Given the description of an element on the screen output the (x, y) to click on. 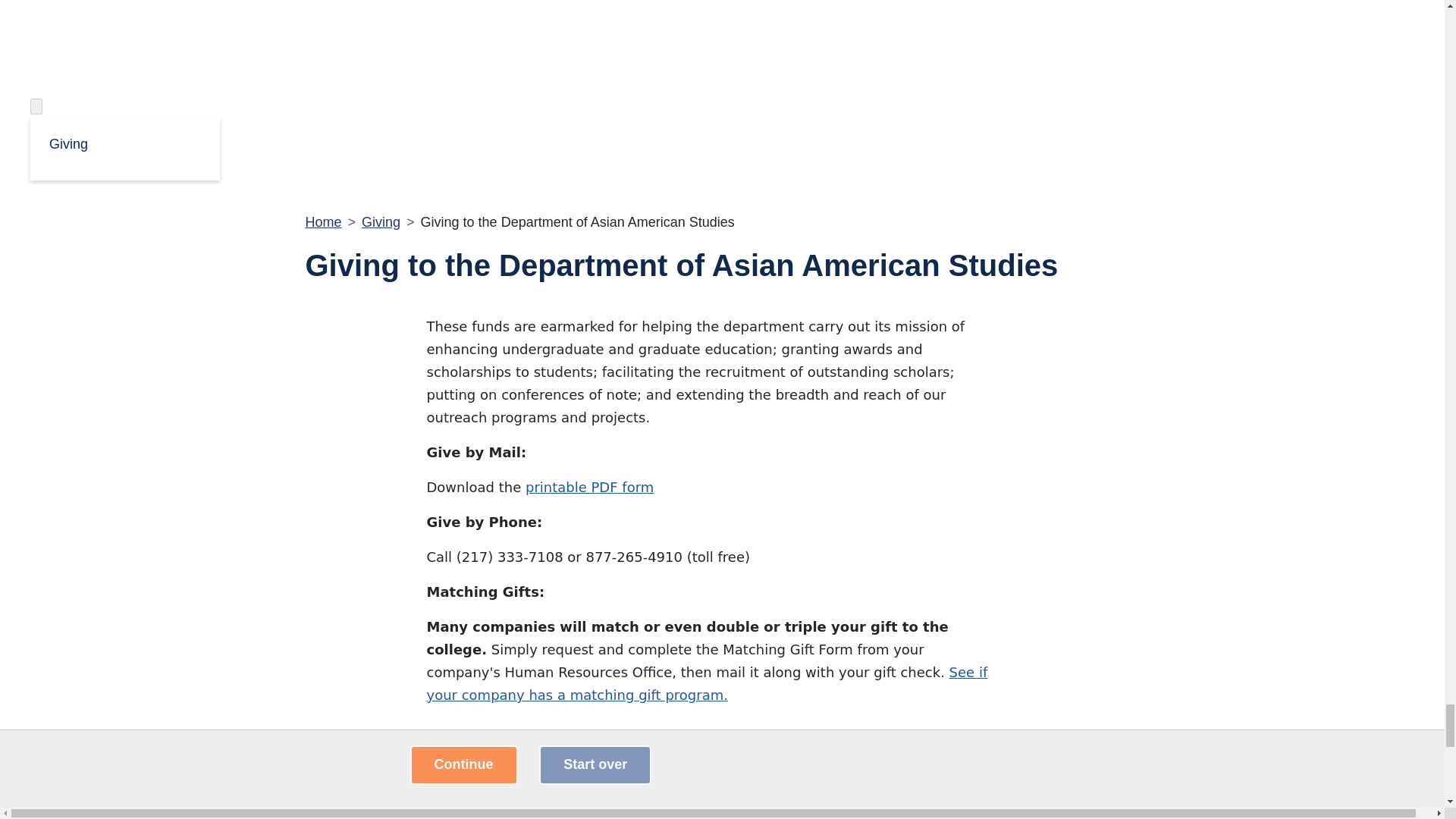
Home (322, 222)
printable PDF form (589, 487)
Giving (380, 222)
Giving (125, 142)
See if your company has a matching gift program. (706, 683)
